Given the description of an element on the screen output the (x, y) to click on. 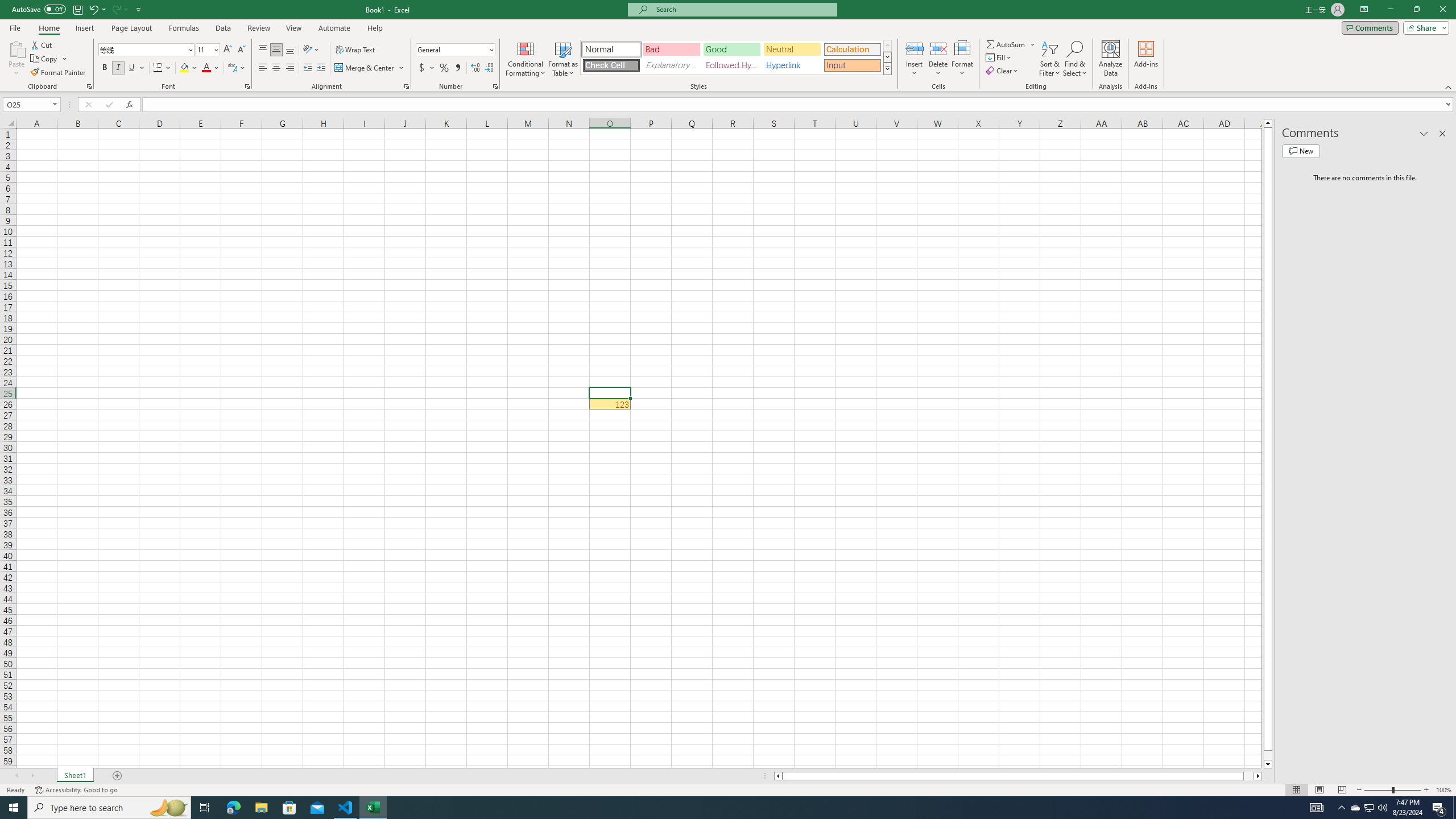
Format (962, 58)
Delete (938, 58)
Format Cell Number (494, 85)
Show Phonetic Field (231, 67)
Explanatory Text (671, 65)
Clear (1003, 69)
Fill Color (188, 67)
